Given the description of an element on the screen output the (x, y) to click on. 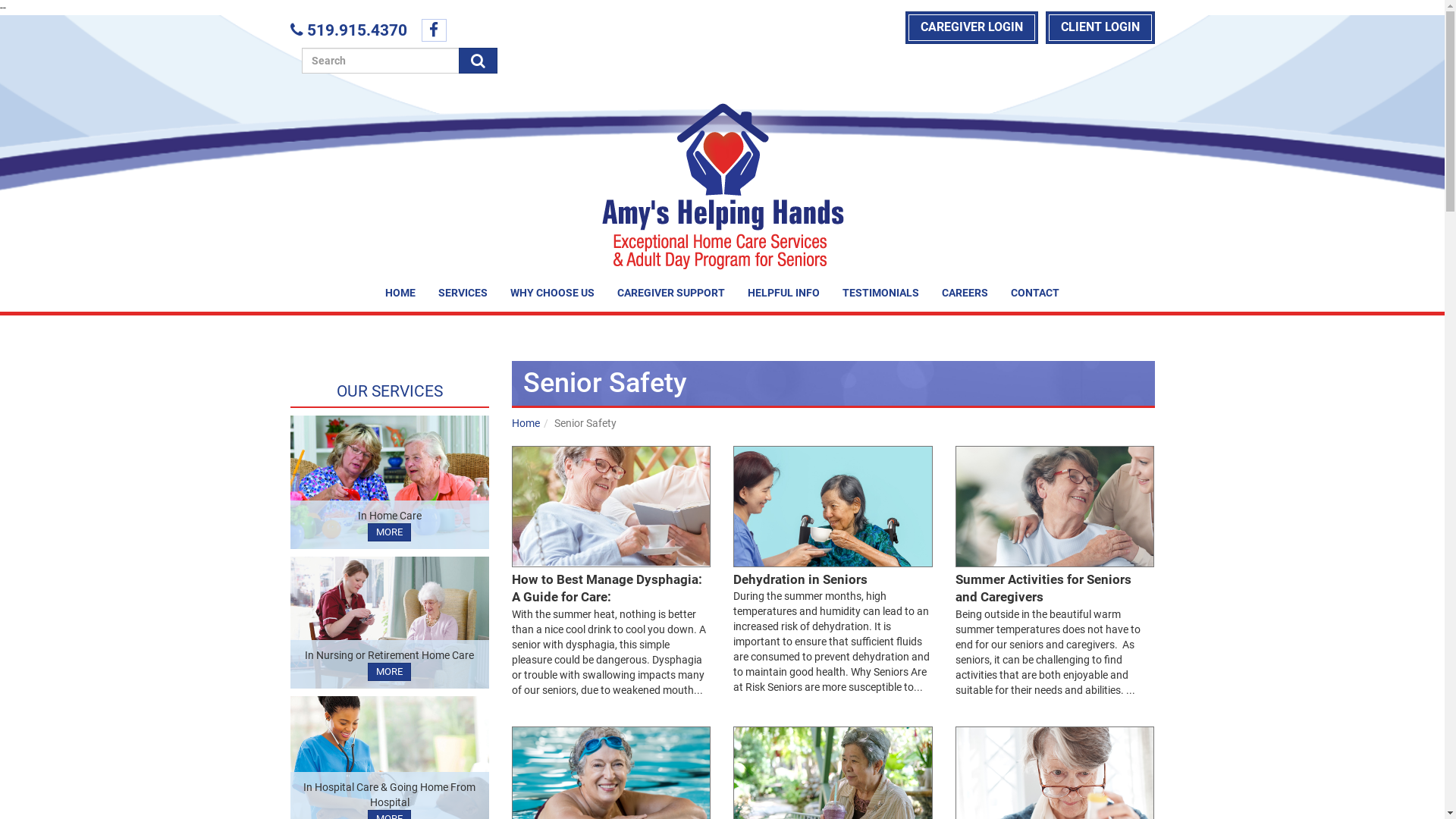
WHY CHOOSE US Element type: text (551, 292)
Home Element type: text (525, 423)
CAREERS Element type: text (964, 292)
CAREGIVER LOGIN Element type: text (971, 27)
CLIENT LOGIN Element type: text (1099, 27)
CONTACT Element type: text (1034, 292)
CAREGIVER SUPPORT Element type: text (670, 292)
HOME Element type: text (399, 292)
SERVICES Element type: text (462, 292)
TESTIMONIALS Element type: text (880, 292)
SEARCH Element type: text (477, 60)
In Home Care
MORE Element type: text (389, 482)
HELPFUL INFO Element type: text (783, 292)
In Nursing or Retirement Home Care
MORE Element type: text (389, 622)
